Given the description of an element on the screen output the (x, y) to click on. 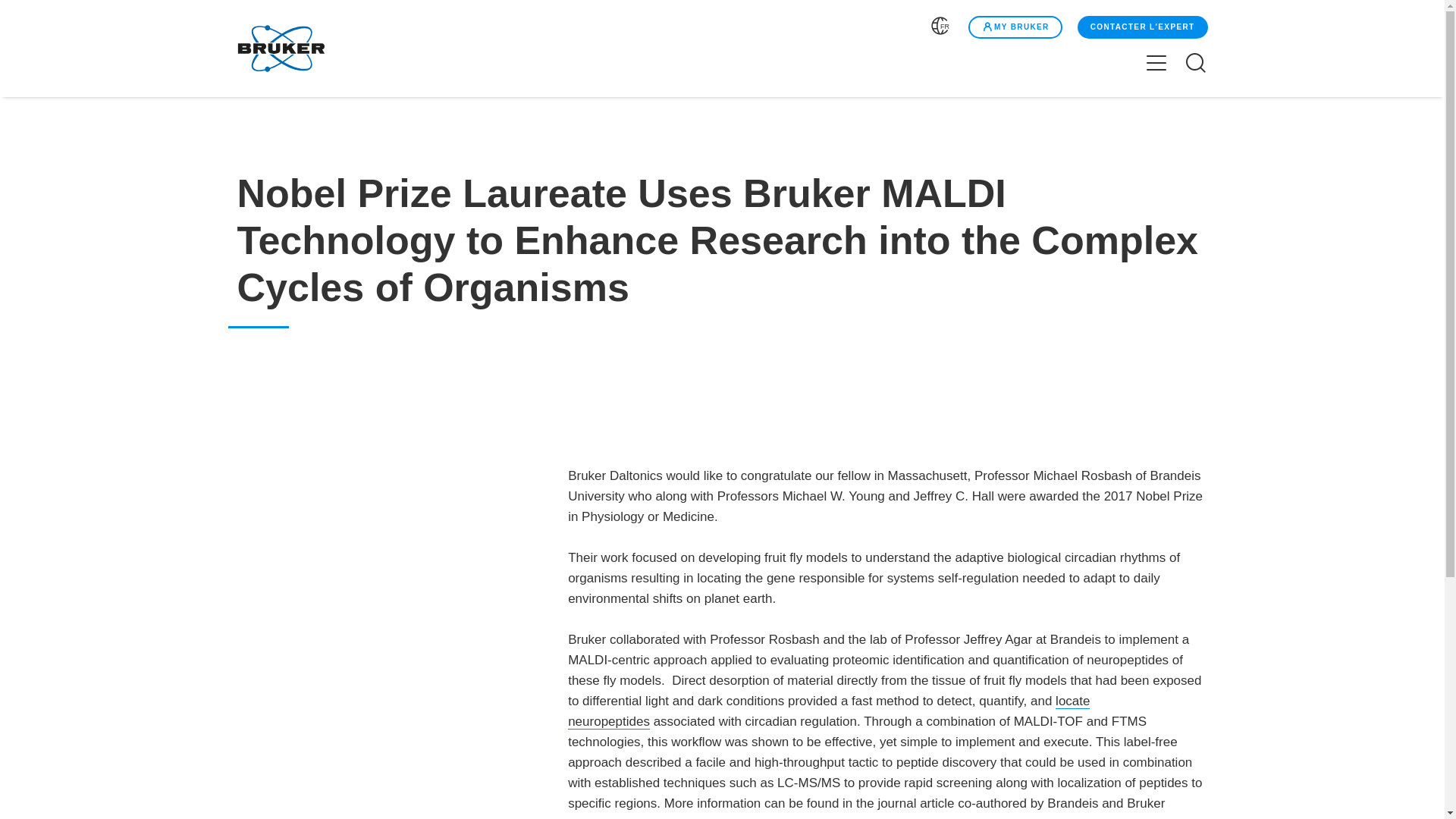
MY BRUKER (1015, 26)
locate neuropeptides (828, 711)
CONTACTER L'EXPERT (1141, 27)
CONTACTER L'EXPERT (1142, 26)
